Given the description of an element on the screen output the (x, y) to click on. 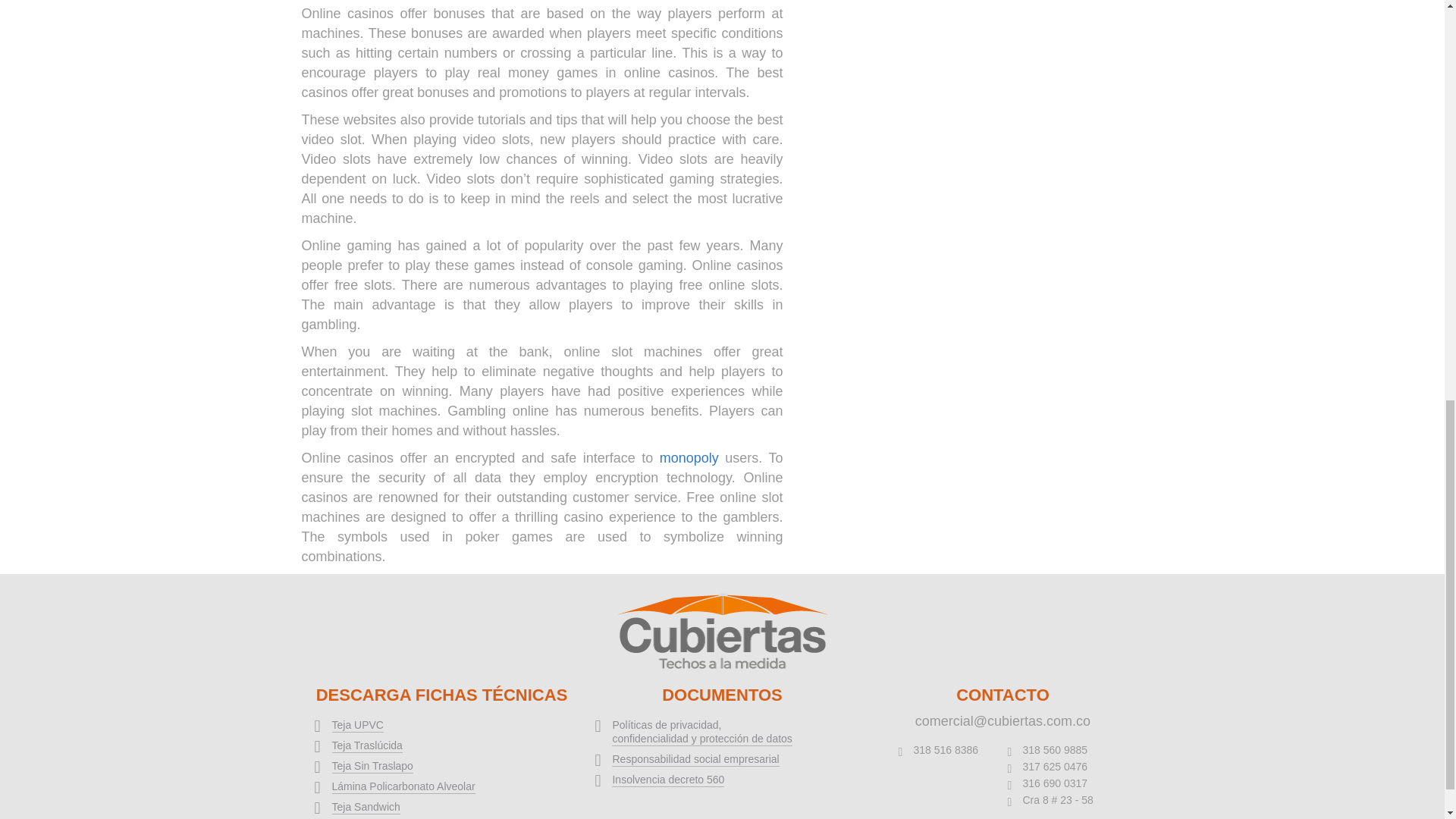
Teja Sin Traslapo (372, 766)
Responsabilidad social empresarial (694, 758)
monopoly (689, 458)
Insolvencia decreto 560 (667, 779)
Teja UPVC (357, 725)
Teja Sandwich (365, 806)
